Given the description of an element on the screen output the (x, y) to click on. 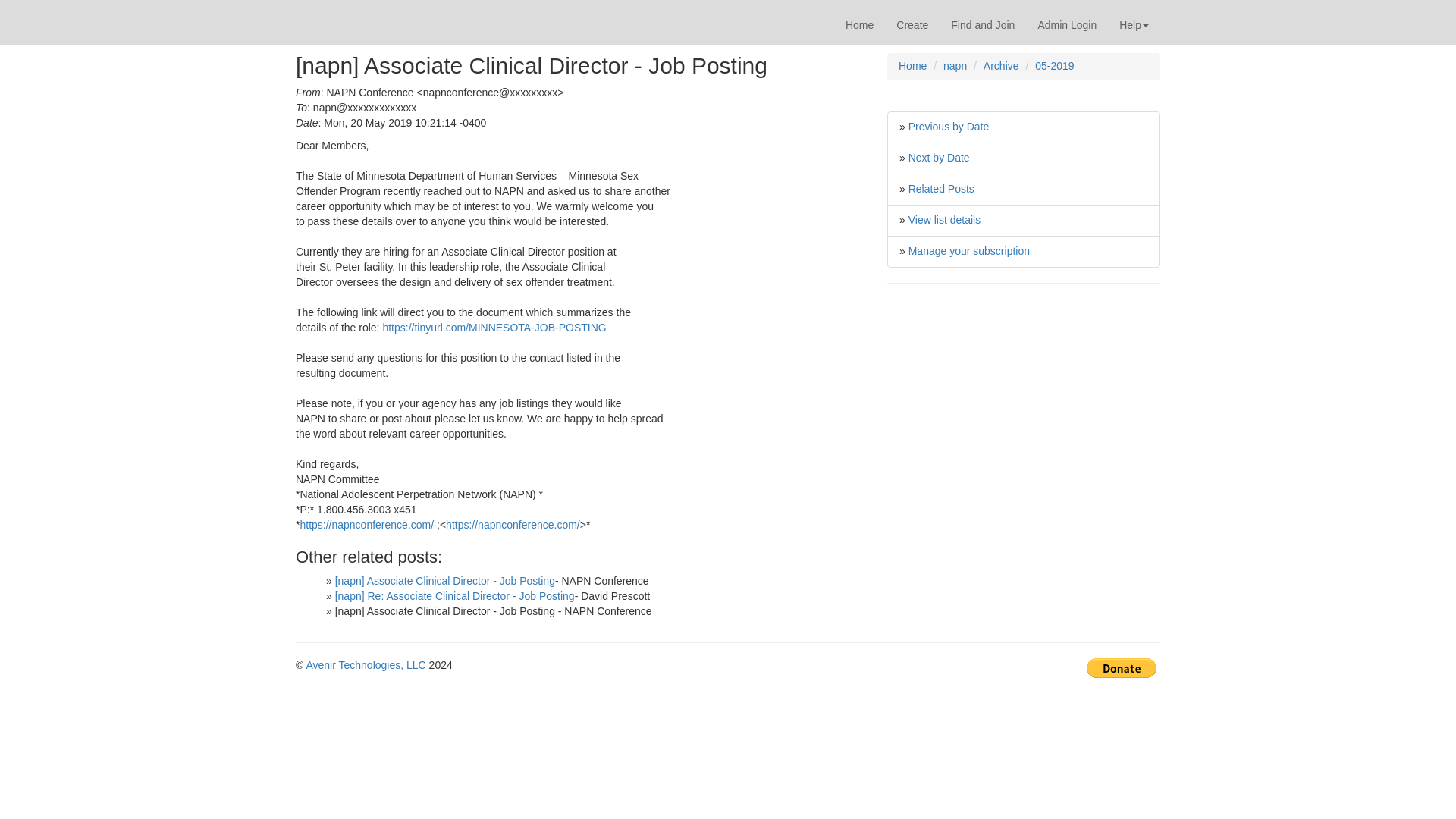
05-2019 (1054, 65)
Next by Date (938, 157)
Create (912, 24)
Manage your subscription (968, 250)
Help (1134, 24)
Archive (1001, 65)
Home (859, 24)
Avenir Technologies, LLC (365, 664)
Admin Login (1067, 24)
View list details (943, 219)
Previous by Date (949, 126)
PayPal - The safer, easier way to pay online! (1121, 668)
napn (954, 65)
Related Posts (941, 188)
Home (912, 65)
